Given the description of an element on the screen output the (x, y) to click on. 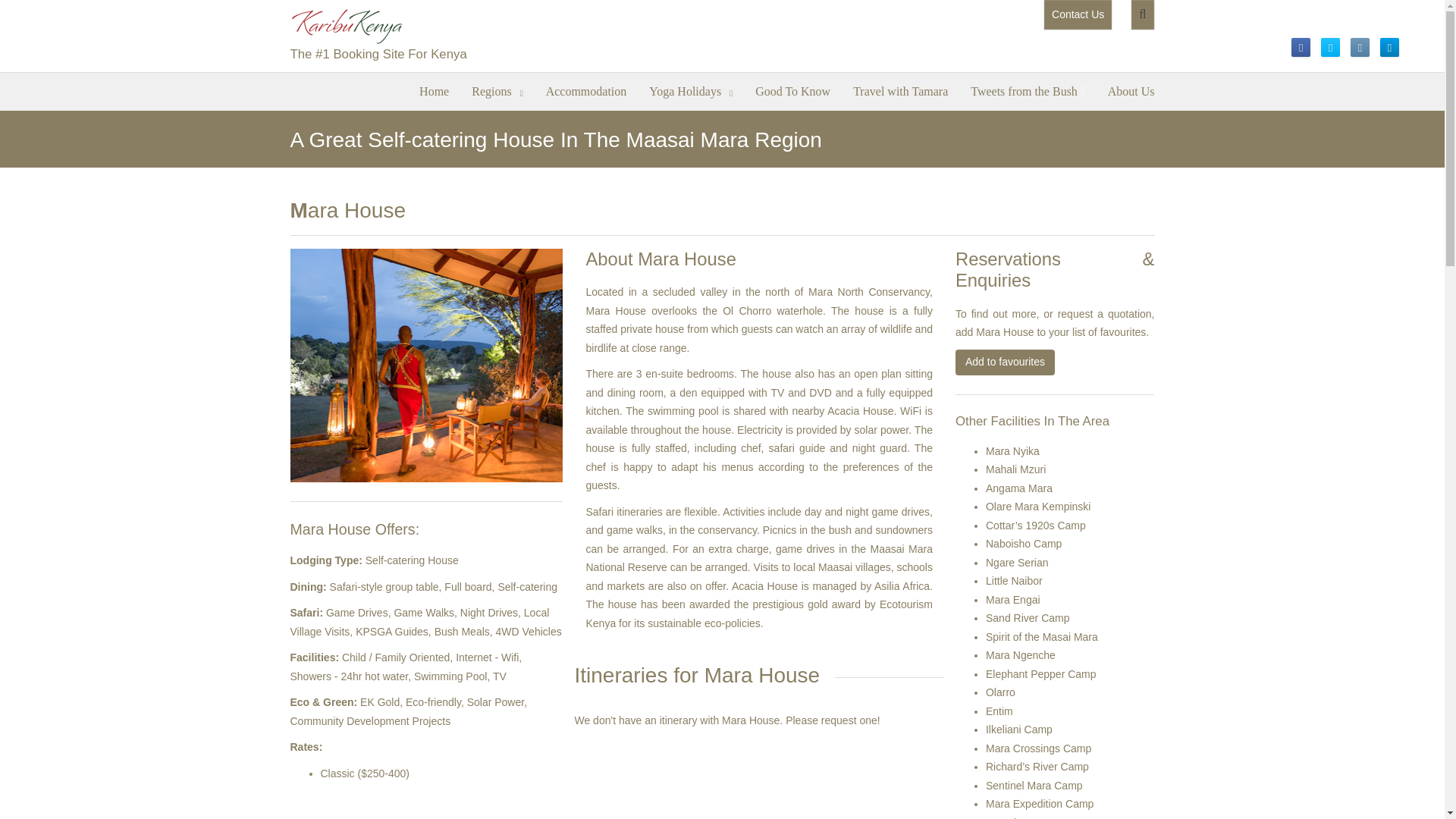
Home (433, 90)
Add to favourites (1004, 362)
Regions (497, 90)
Travel with Tamara (900, 90)
Mara Nyika (1012, 451)
About Us (1131, 90)
Yoga Holidays (690, 90)
Accommodation (586, 90)
Tweets from the Bush (1027, 90)
Good To Know (792, 90)
